Given the description of an element on the screen output the (x, y) to click on. 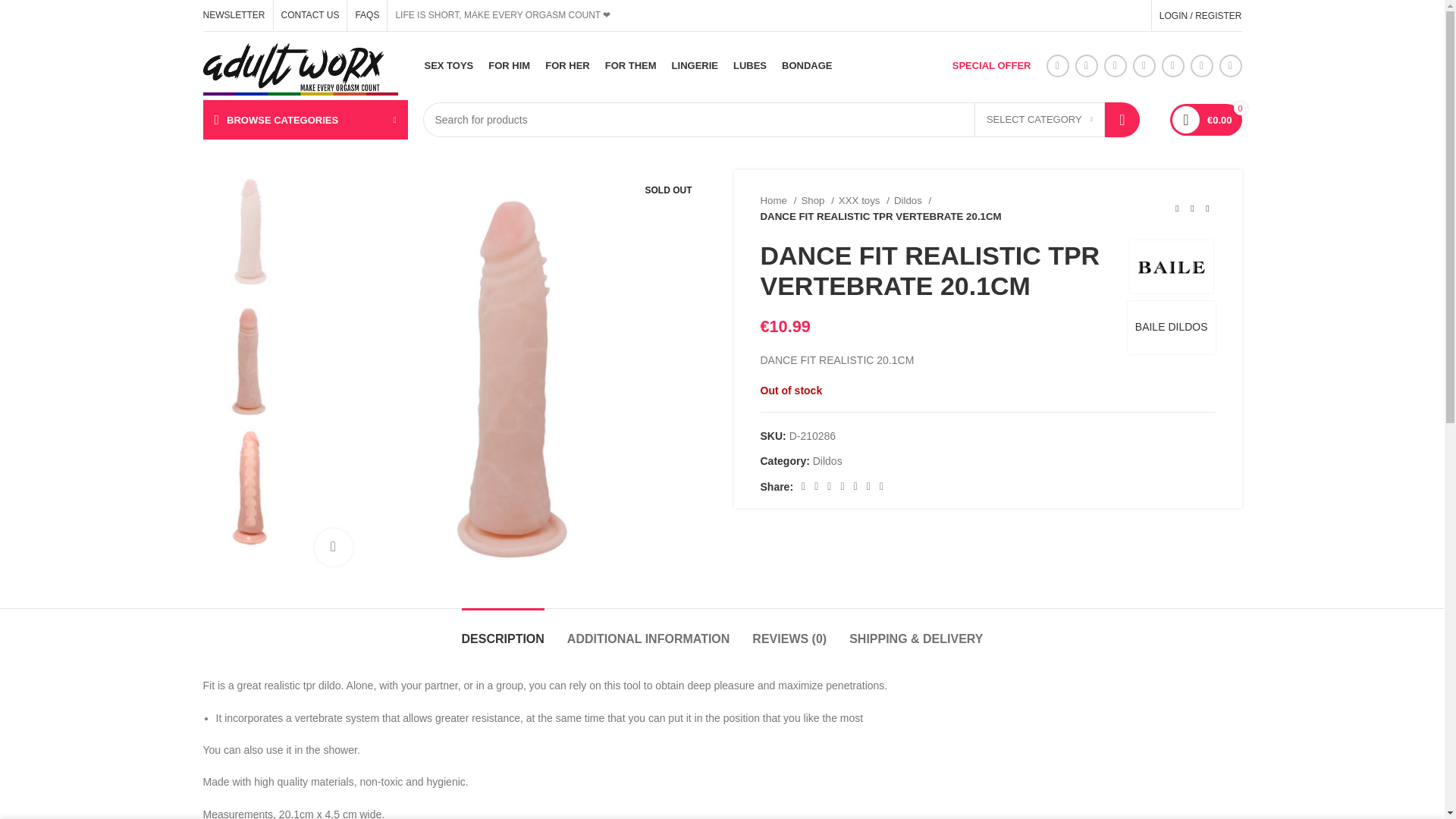
BONDAGE (806, 65)
FOR HIM (508, 65)
BAILE (1171, 266)
Search for products (781, 119)
Shopping cart (1205, 119)
CONTACT US (310, 15)
SPECIAL OFFER (991, 65)
SELECT CATEGORY (1039, 119)
FOR THEM (630, 65)
